Given the description of an element on the screen output the (x, y) to click on. 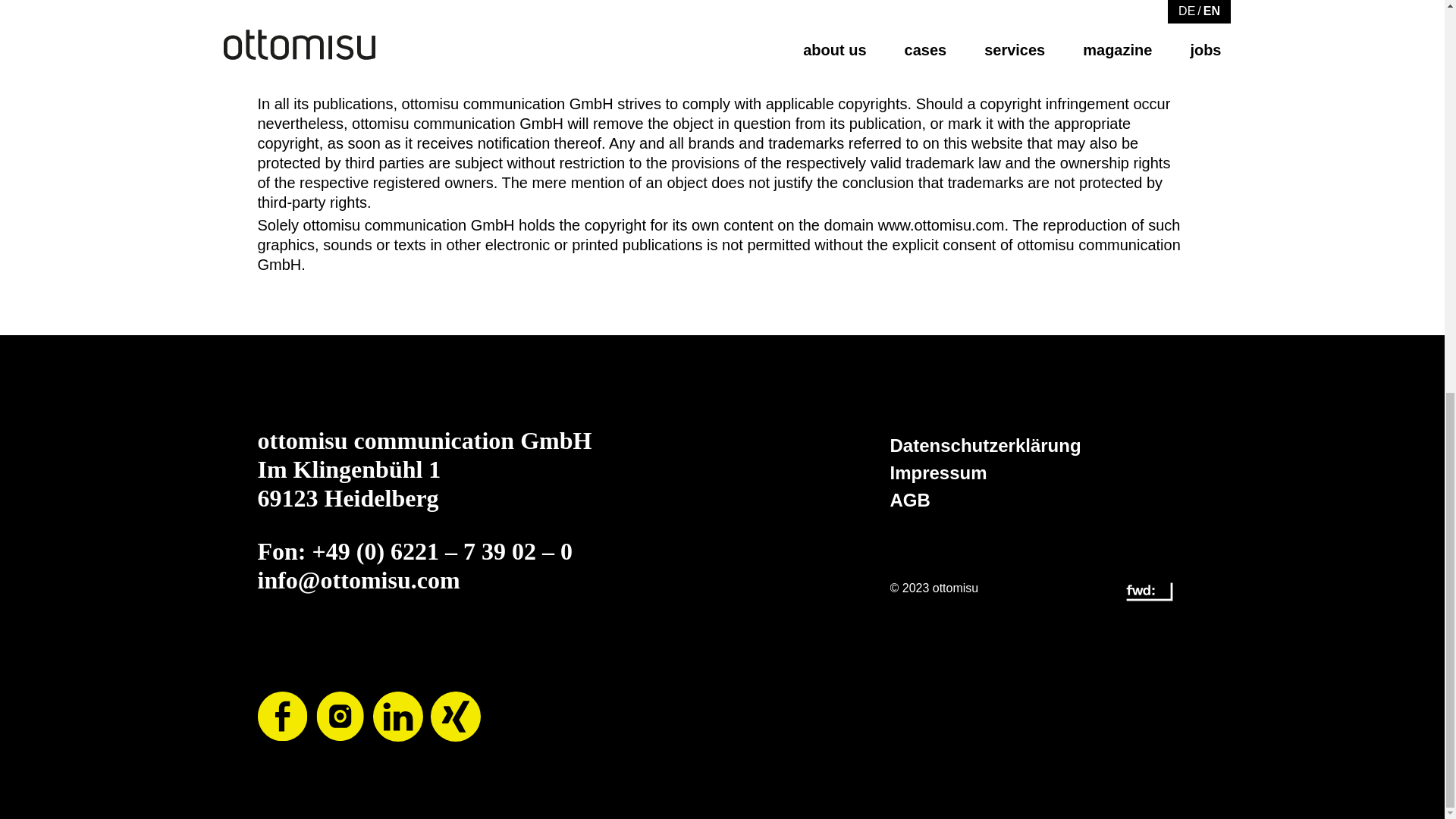
Impressum (938, 474)
Impressum (938, 474)
AGB (909, 501)
AGB (909, 501)
